Given the description of an element on the screen output the (x, y) to click on. 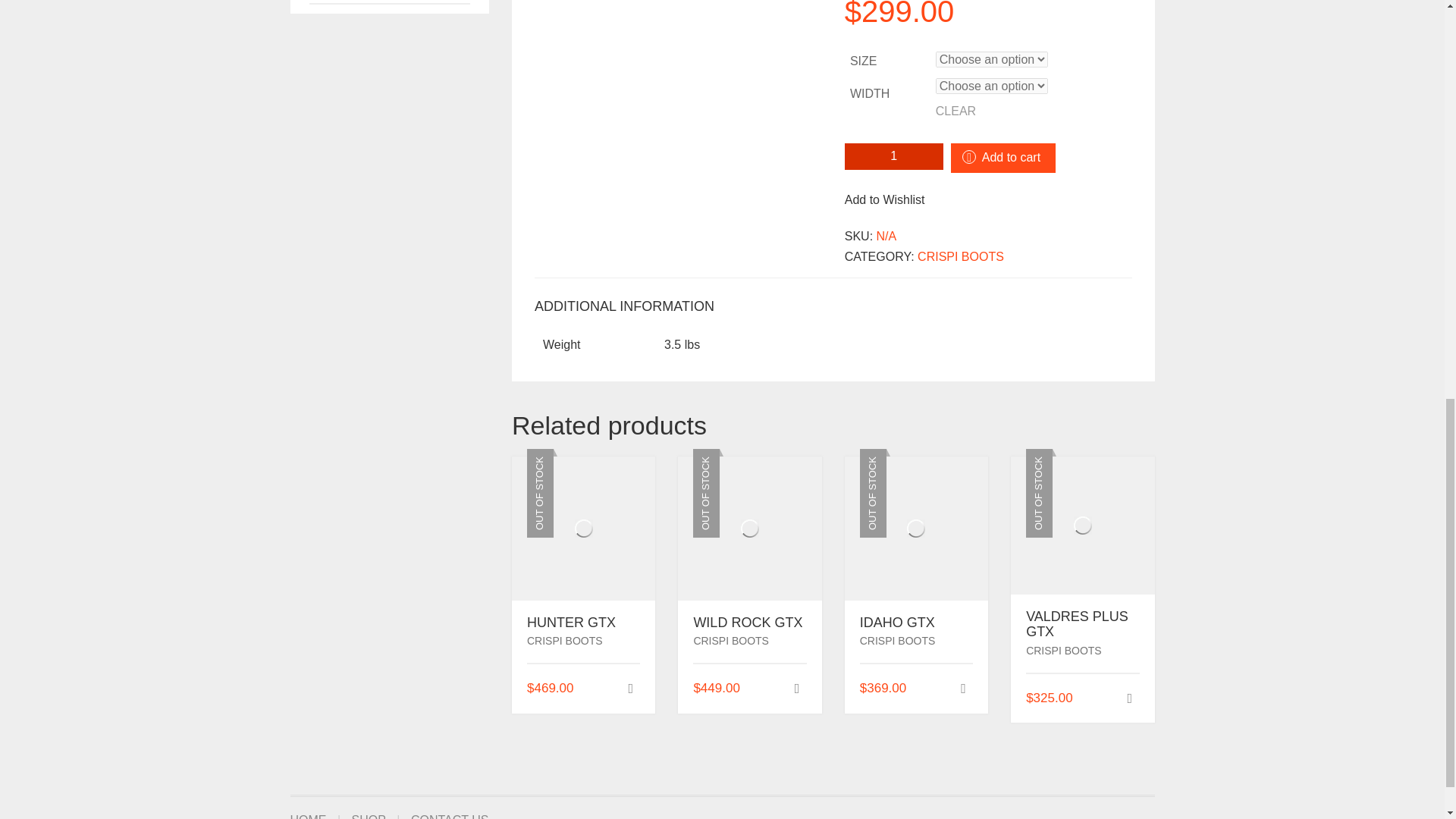
CLEAR (1034, 111)
1 (893, 156)
Select options (630, 688)
ADDITIONAL INFORMATION (624, 306)
Select options (962, 688)
CRISPI BOOTS (960, 256)
Select options (796, 688)
Add to Wishlist (884, 199)
Add to cart (1002, 157)
Select options (1128, 698)
